Given the description of an element on the screen output the (x, y) to click on. 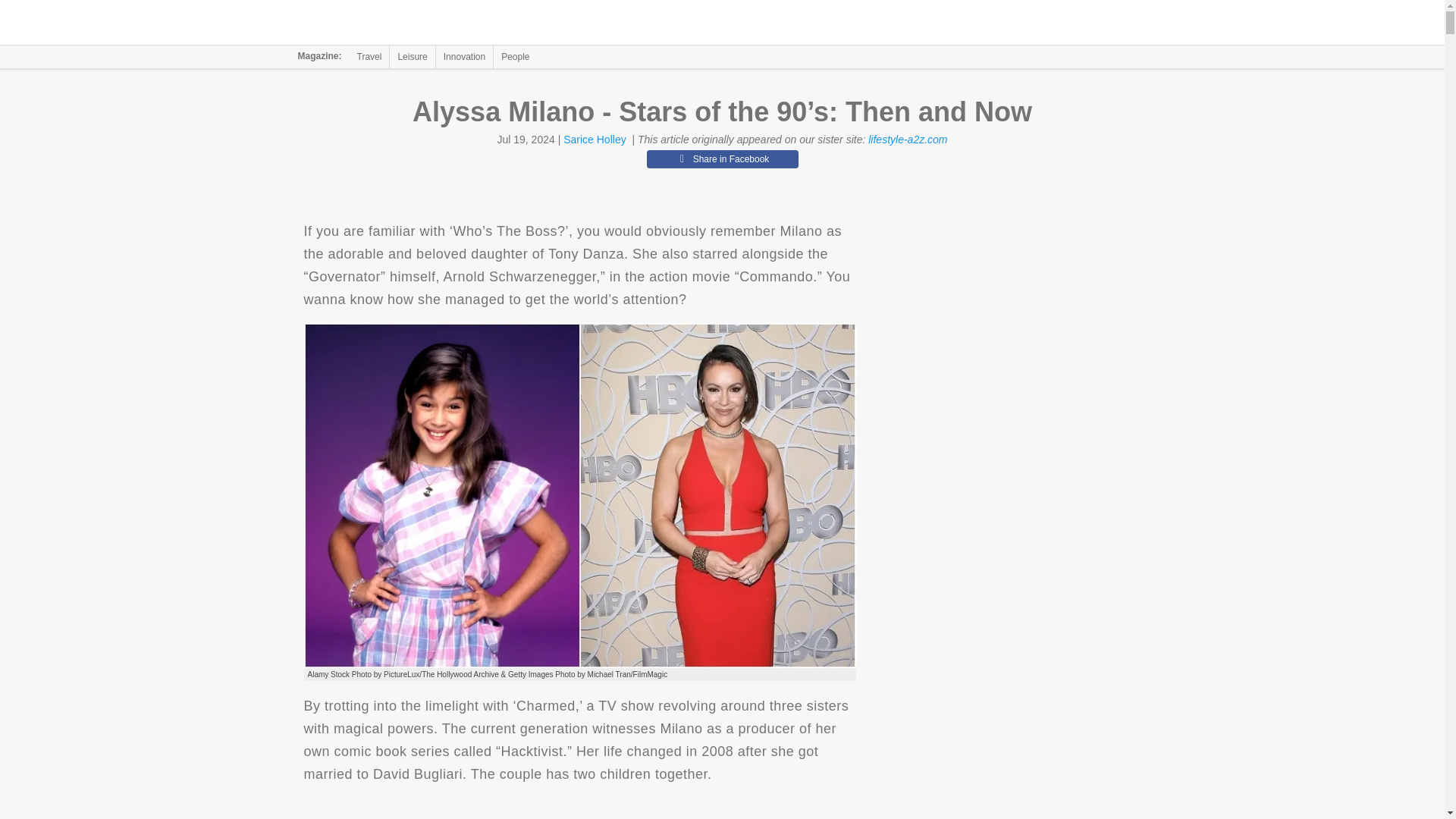
Innovation (464, 56)
Travel (369, 56)
Share in Facebook (721, 158)
lifestyle-a2z.com (907, 139)
The Jerusalem Post Magazine (391, 22)
Sarice Holley (594, 139)
People (515, 56)
Leisure (411, 56)
